Given the description of an element on the screen output the (x, y) to click on. 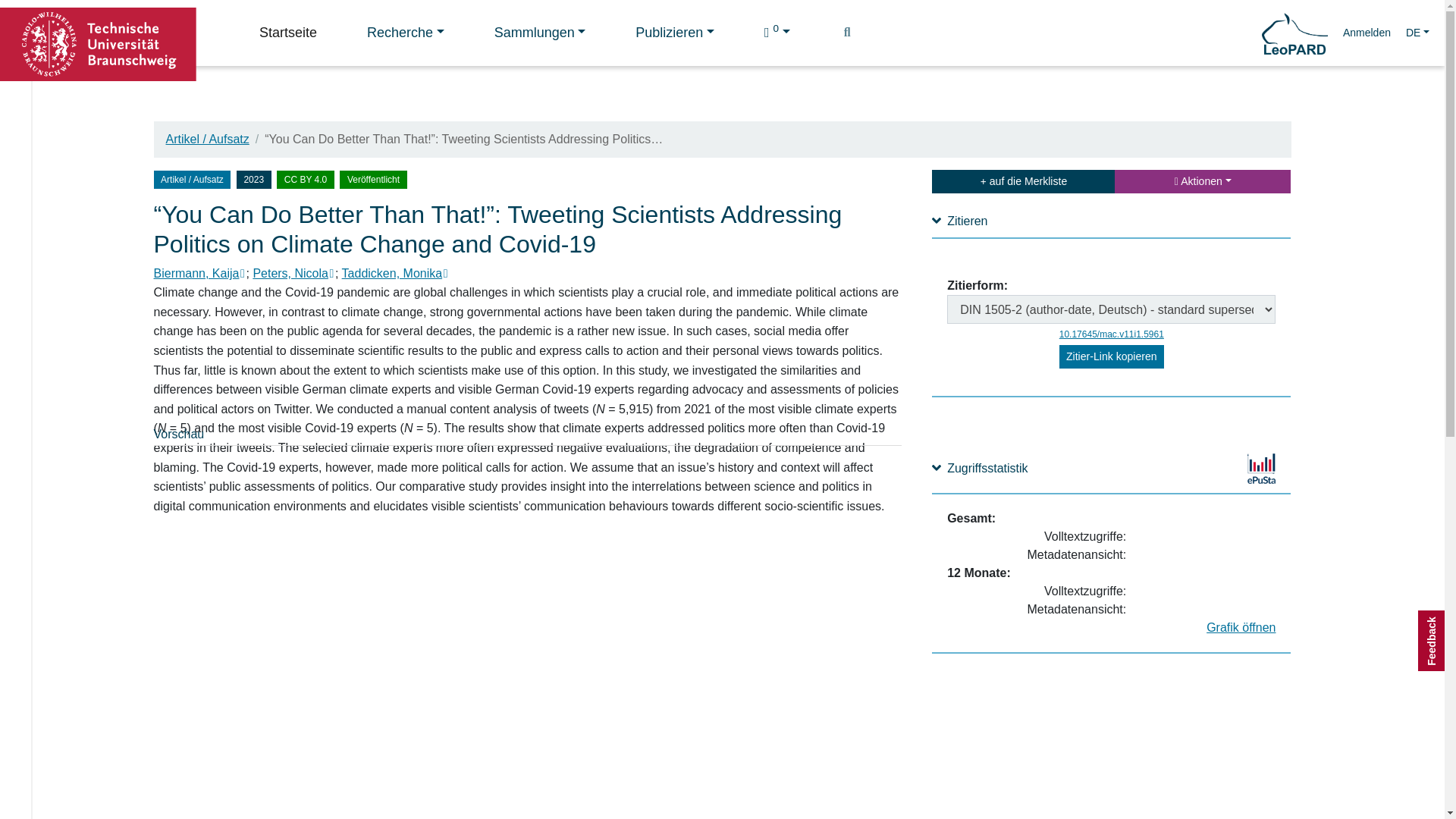
Startseite (288, 33)
Publication date (255, 178)
Publizieren (674, 33)
Publikationsstatus (372, 179)
Recherche (405, 33)
2023 (252, 179)
zur Startseite der TU Braunschweig (98, 42)
Hier klicken um ggf. weitere Zitierlinks zu sehen. (1111, 356)
CC BY 4.0 (305, 179)
Sammlungen (539, 33)
